Given the description of an element on the screen output the (x, y) to click on. 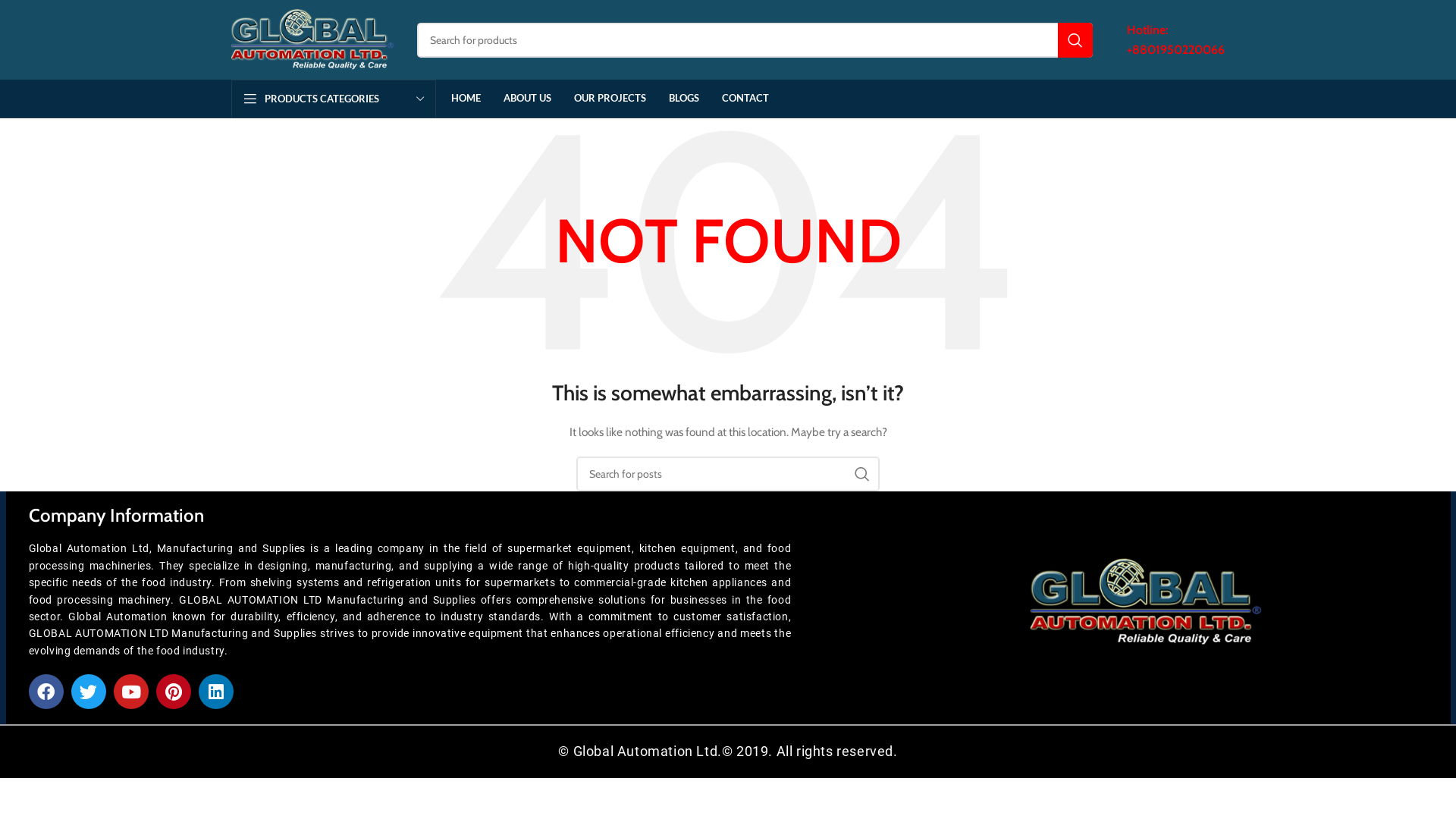
ABOUT US Element type: text (527, 98)
CONTACT Element type: text (744, 98)
SEARCH Element type: text (1074, 39)
Search for posts Element type: hover (727, 473)
HOME Element type: text (465, 98)
Search for products Element type: hover (754, 39)
OUR PROJECTS Element type: text (610, 98)
SEARCH Element type: text (861, 473)
BLOGS Element type: text (683, 98)
